Given the description of an element on the screen output the (x, y) to click on. 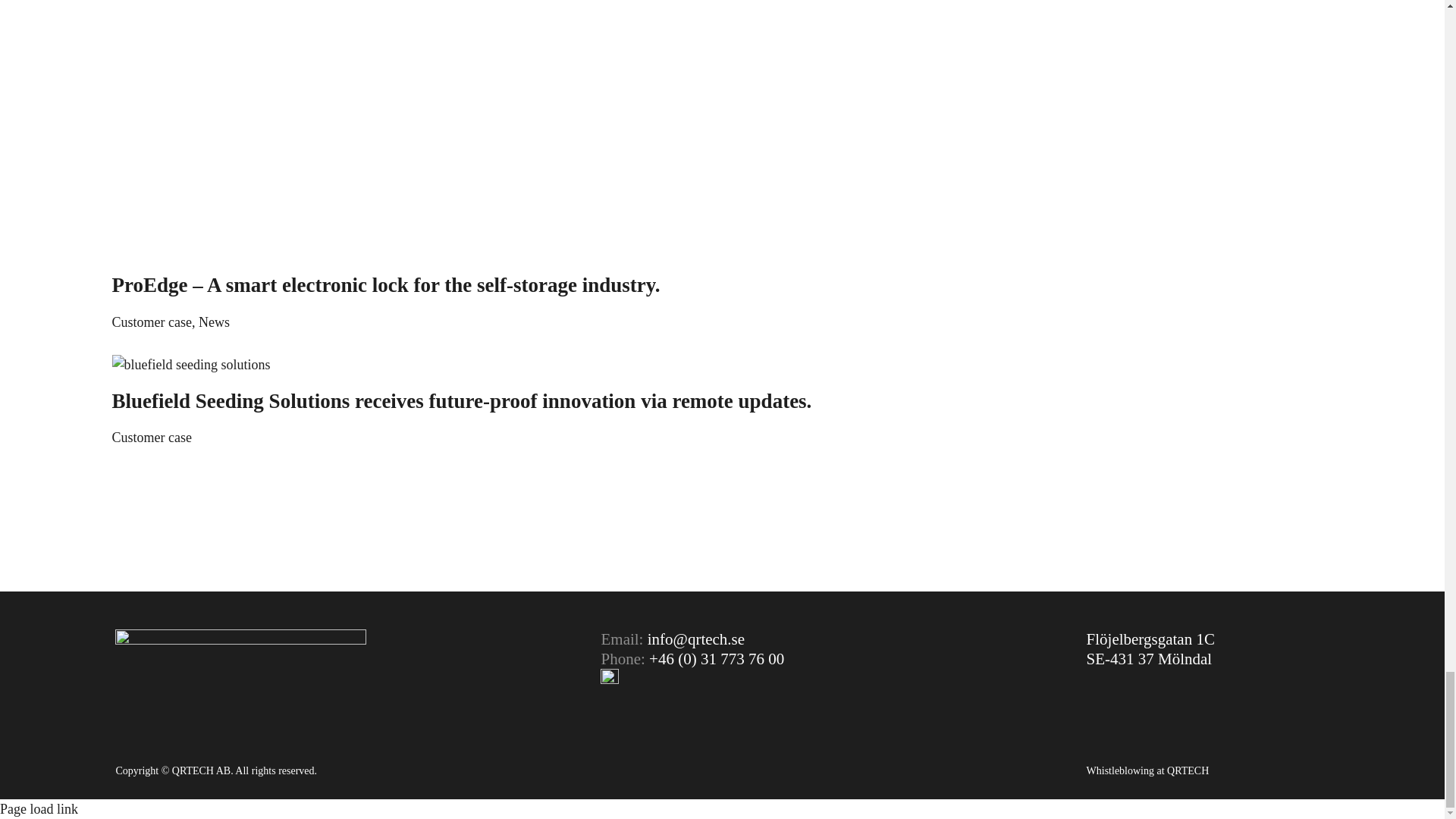
Customer case (152, 437)
qrtech-white-mobile-retina (240, 659)
Customer case (152, 322)
News (214, 322)
